Given the description of an element on the screen output the (x, y) to click on. 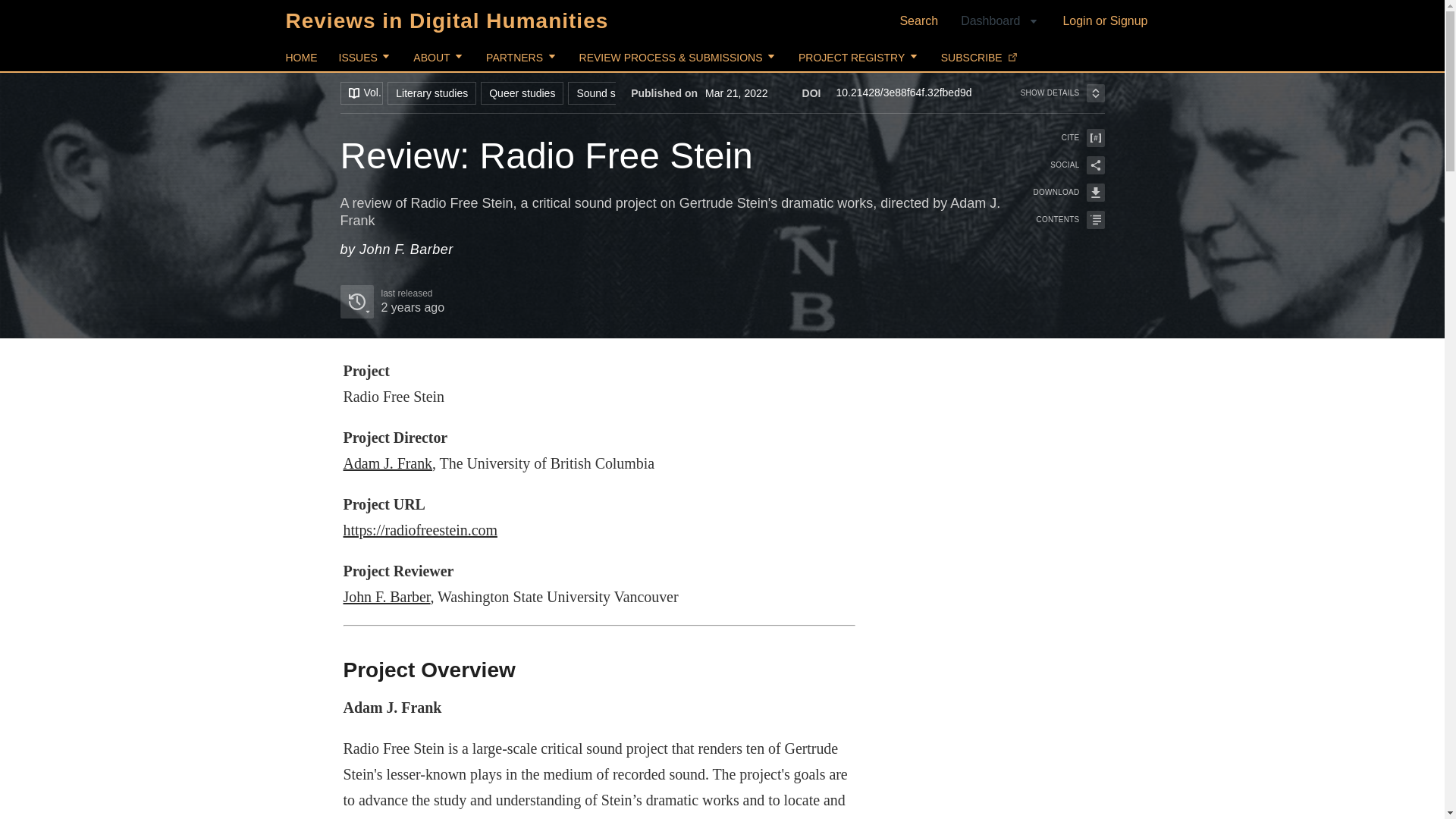
2022-03-19 12:32 (412, 307)
CONTENTS (1058, 219)
Reviews in Digital Humanities (446, 20)
DOWNLOAD (1058, 192)
SHOW DETAILS (1062, 93)
HOME (301, 57)
Literary studies (431, 92)
SOCIAL (1058, 165)
John F. Barber (385, 596)
Sound studies (609, 92)
